Given the description of an element on the screen output the (x, y) to click on. 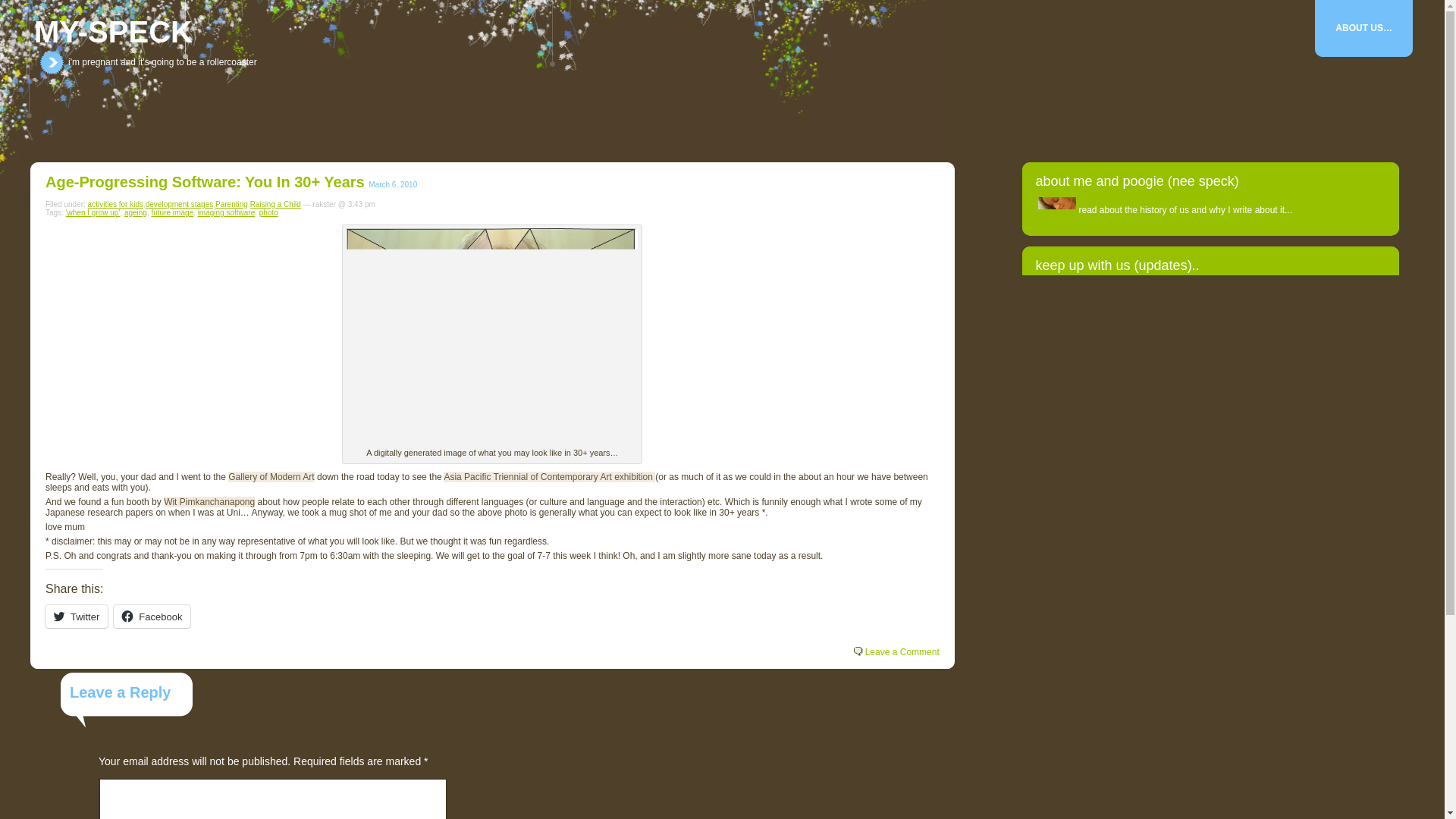
Facebook (151, 616)
read about the history of us and why I write about it... (1185, 209)
Click to share on Twitter (76, 616)
ageing (135, 212)
future image (172, 212)
Gallery of Modern Art (271, 476)
MY-SPECK (112, 31)
photo (268, 212)
The child - aged 30 years  (491, 337)
activities for kids (114, 203)
